Given the description of an element on the screen output the (x, y) to click on. 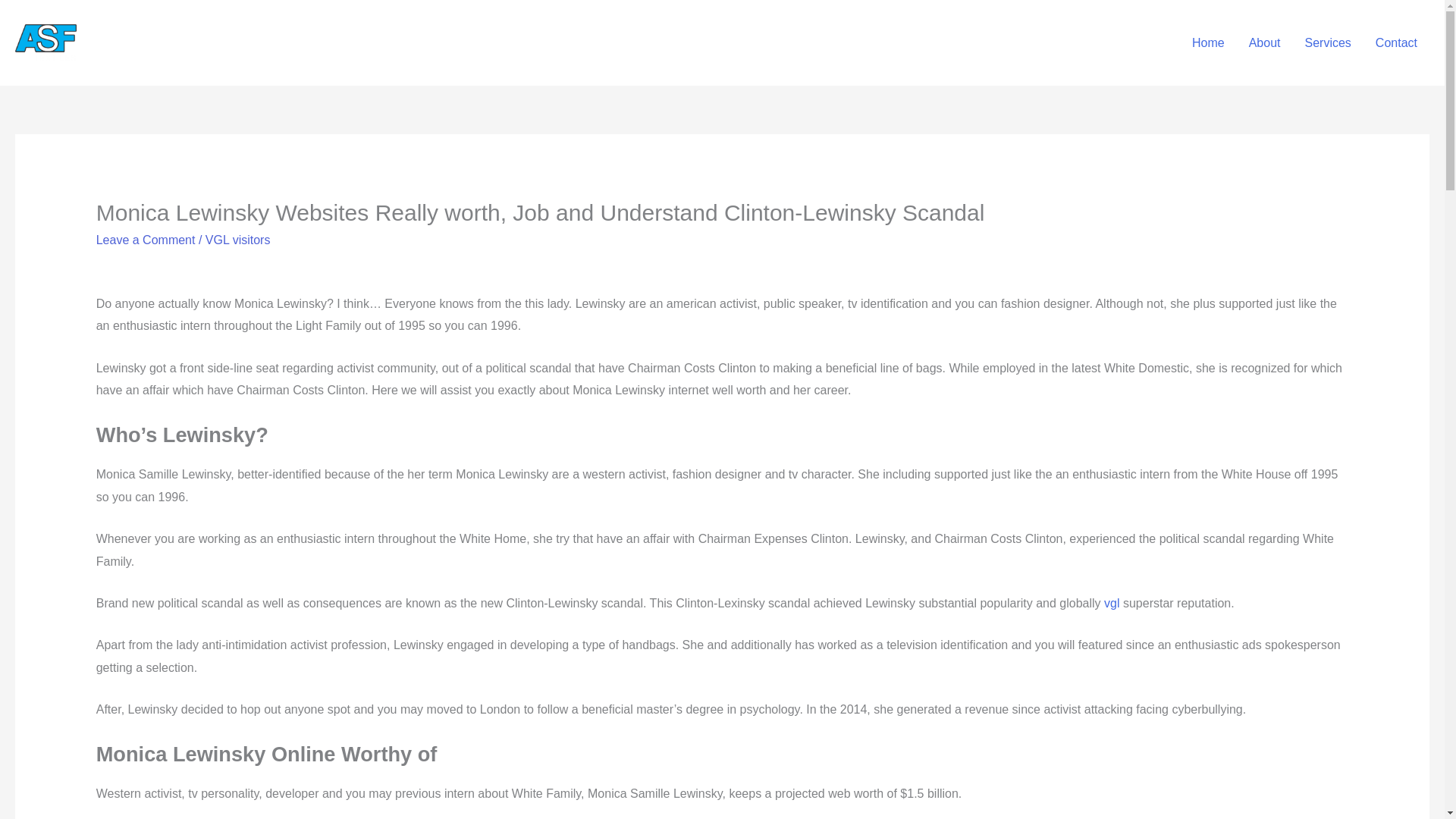
About (1264, 42)
Services (1327, 42)
Home (1207, 42)
VGL visitors (237, 239)
vgl (1111, 603)
Leave a Comment (145, 239)
Contact (1395, 42)
